Given the description of an element on the screen output the (x, y) to click on. 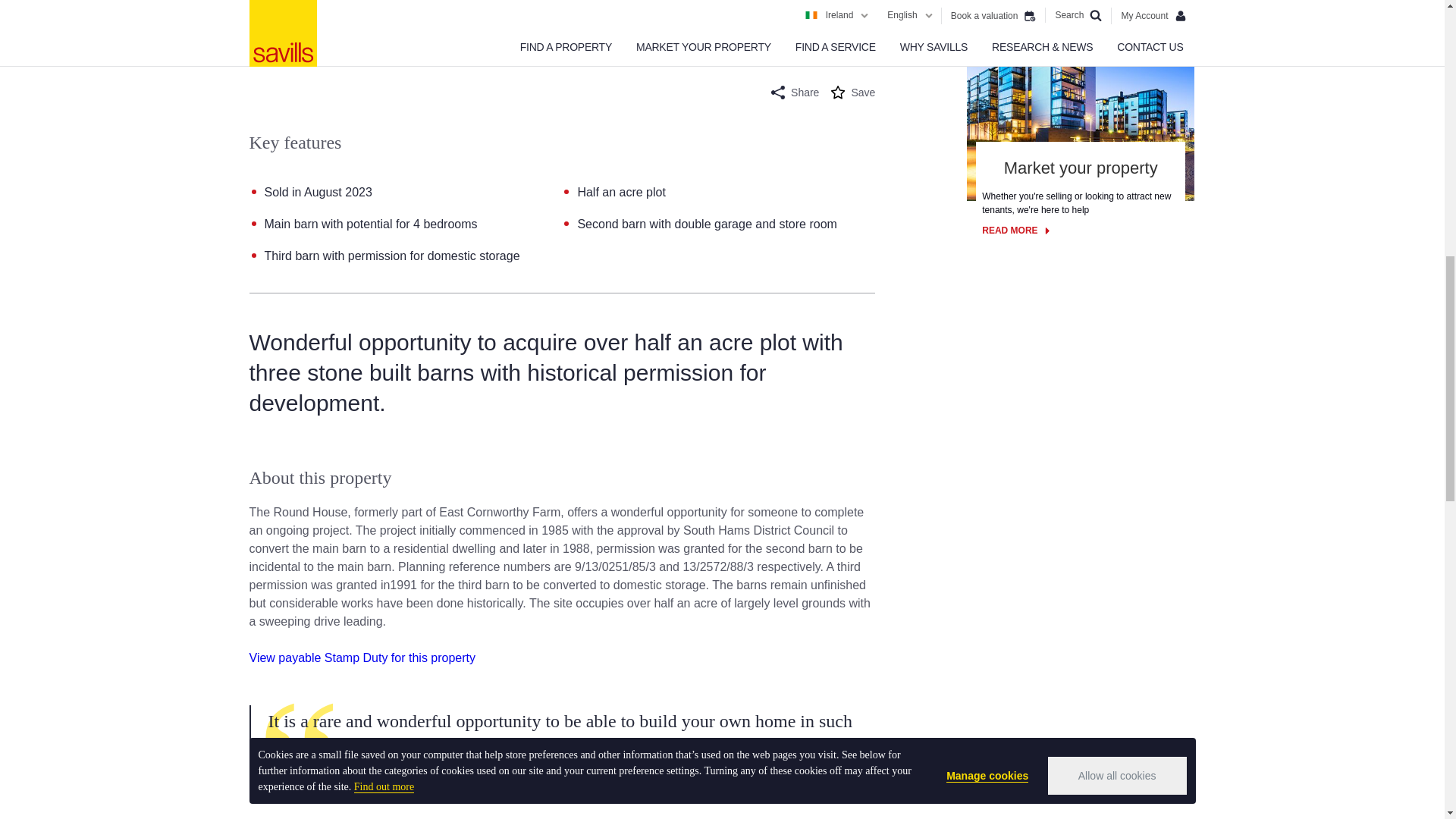
New development (315, 26)
